Given the description of an element on the screen output the (x, y) to click on. 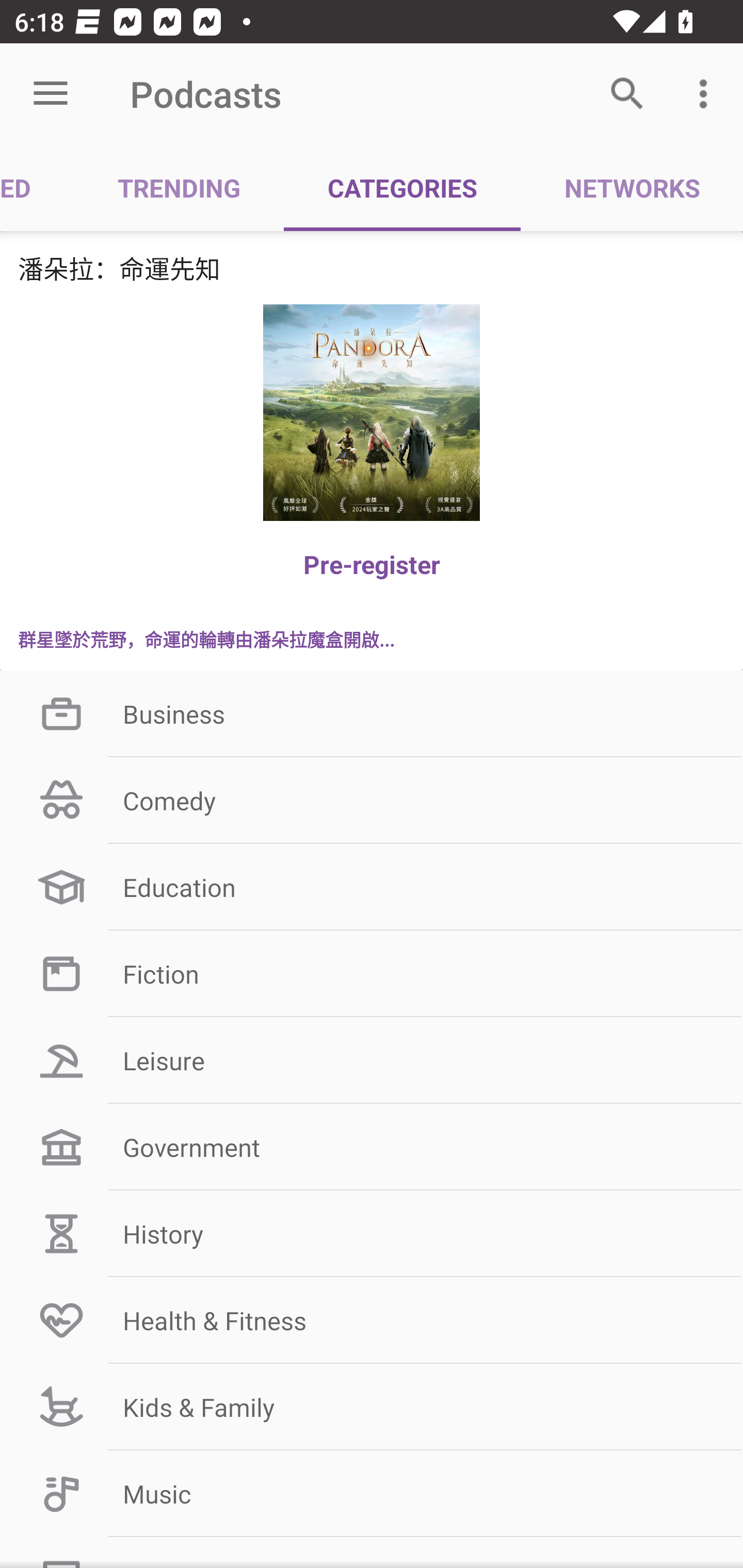
Open menu (50, 93)
Search (626, 93)
More options (706, 93)
TRENDING (178, 187)
CATEGORIES (401, 187)
NETWORKS (631, 187)
潘朵拉：命運先知 (371, 267)
Pre-register (371, 564)
群星墜於荒野，命運的輪轉由潘朵拉魔盒開啟... (371, 638)
Business (371, 714)
Comedy (371, 800)
Education (371, 886)
Fiction (371, 973)
Leisure (371, 1060)
Government (371, 1146)
History (371, 1233)
Health & Fitness (371, 1320)
Kids & Family (371, 1407)
Music (371, 1493)
